Given the description of an element on the screen output the (x, y) to click on. 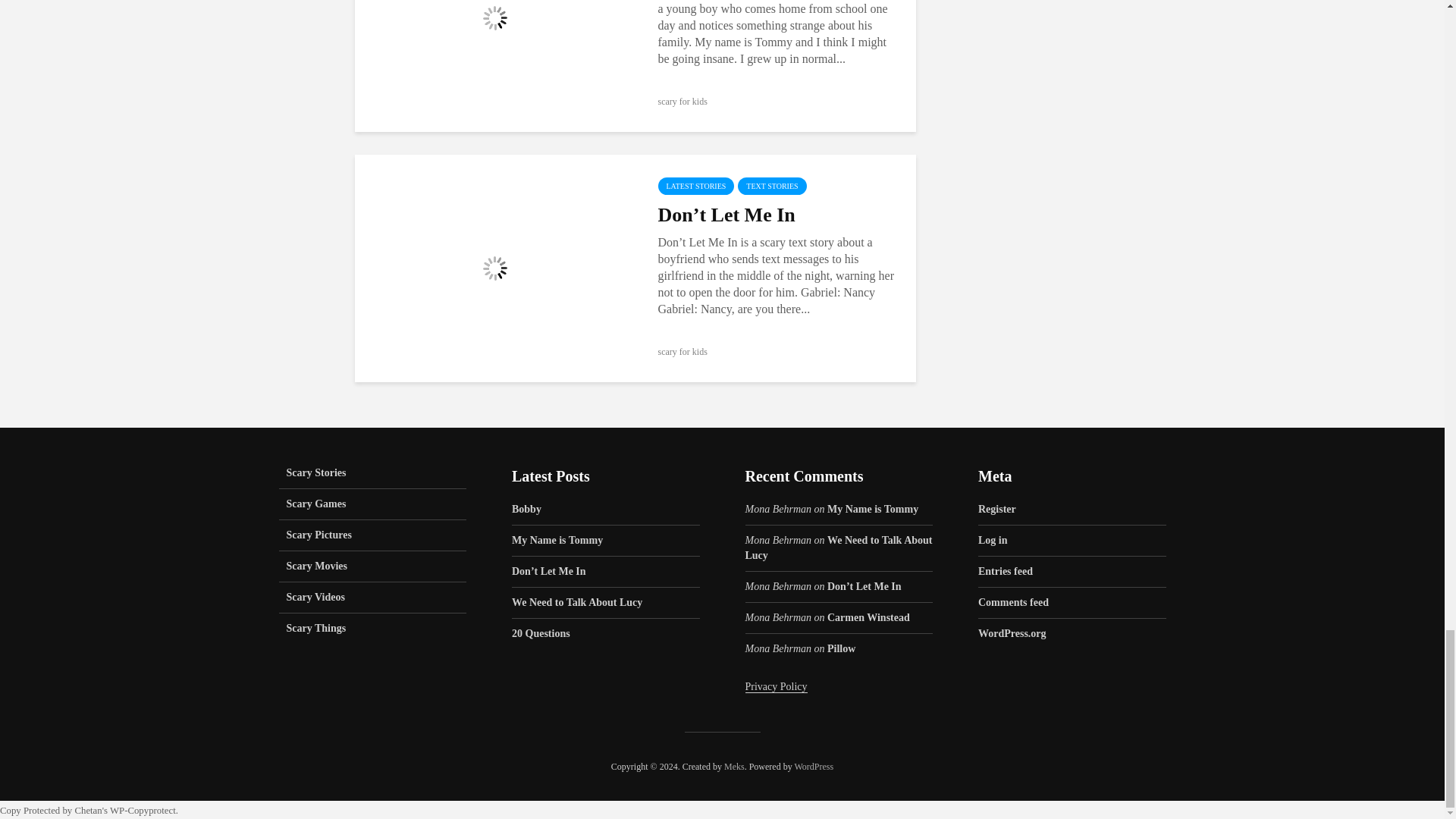
My Name is Tommy (494, 16)
